Given the description of an element on the screen output the (x, y) to click on. 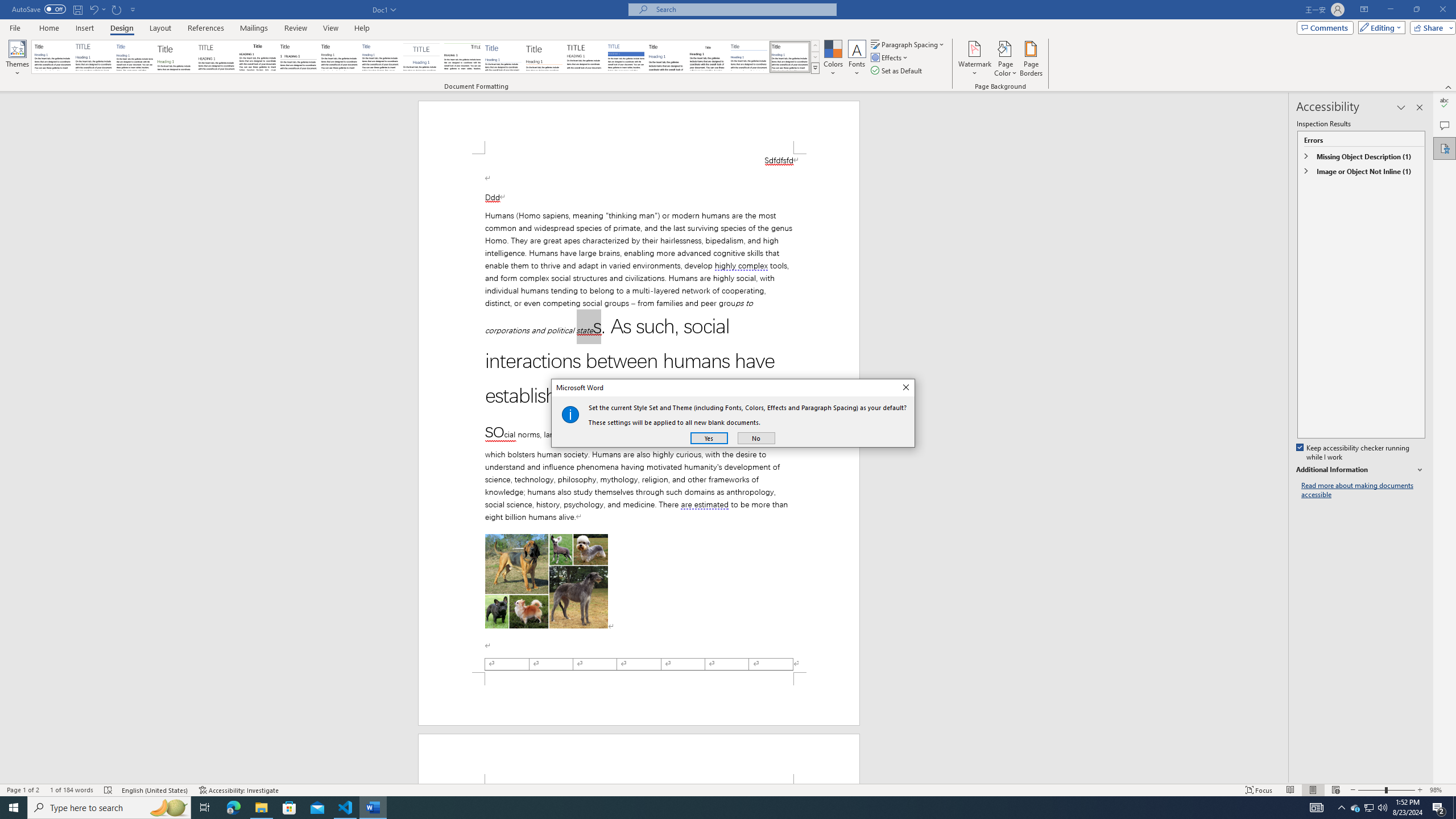
Spelling and Grammar Check Errors (108, 790)
Basic (Stylish) (175, 56)
Undo Apply Quick Style Set (96, 9)
Page Color (1005, 58)
Themes (17, 58)
Q2790: 100% (1382, 807)
Notification Chevron (1341, 807)
